Given the description of an element on the screen output the (x, y) to click on. 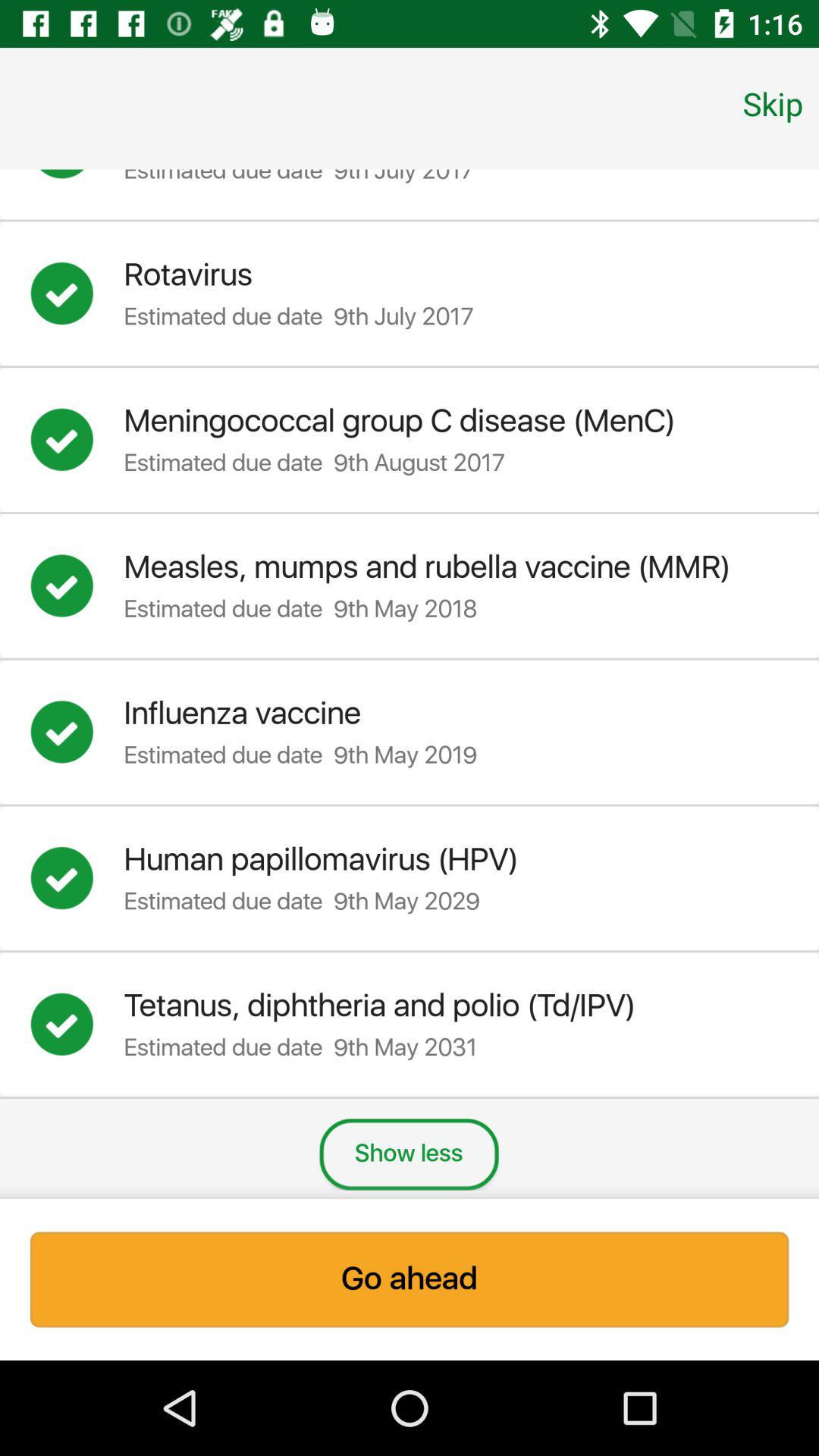
select item (76, 179)
